Given the description of an element on the screen output the (x, y) to click on. 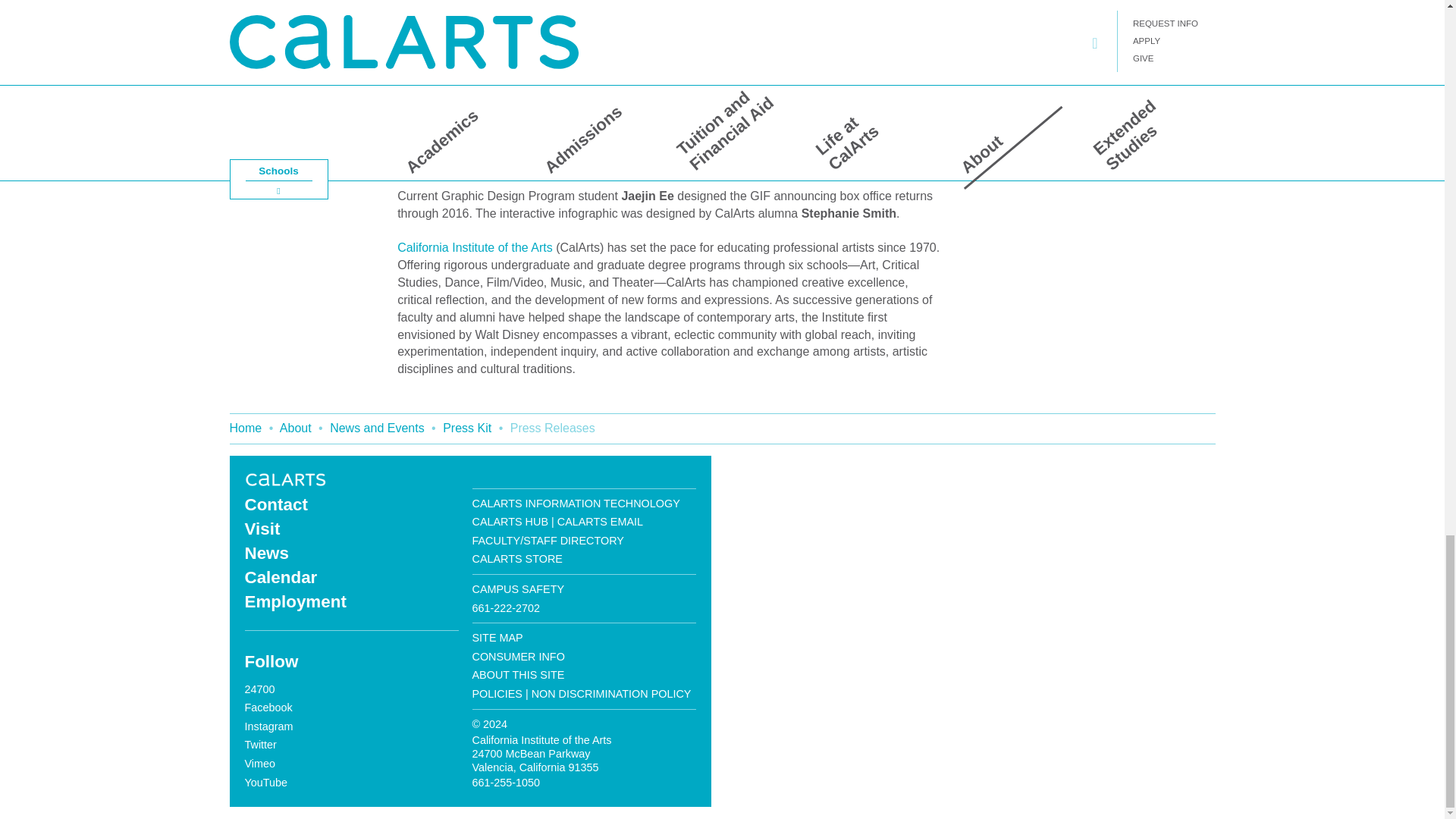
50th Anniversary of California Institute of the Arts (285, 477)
